Given the description of an element on the screen output the (x, y) to click on. 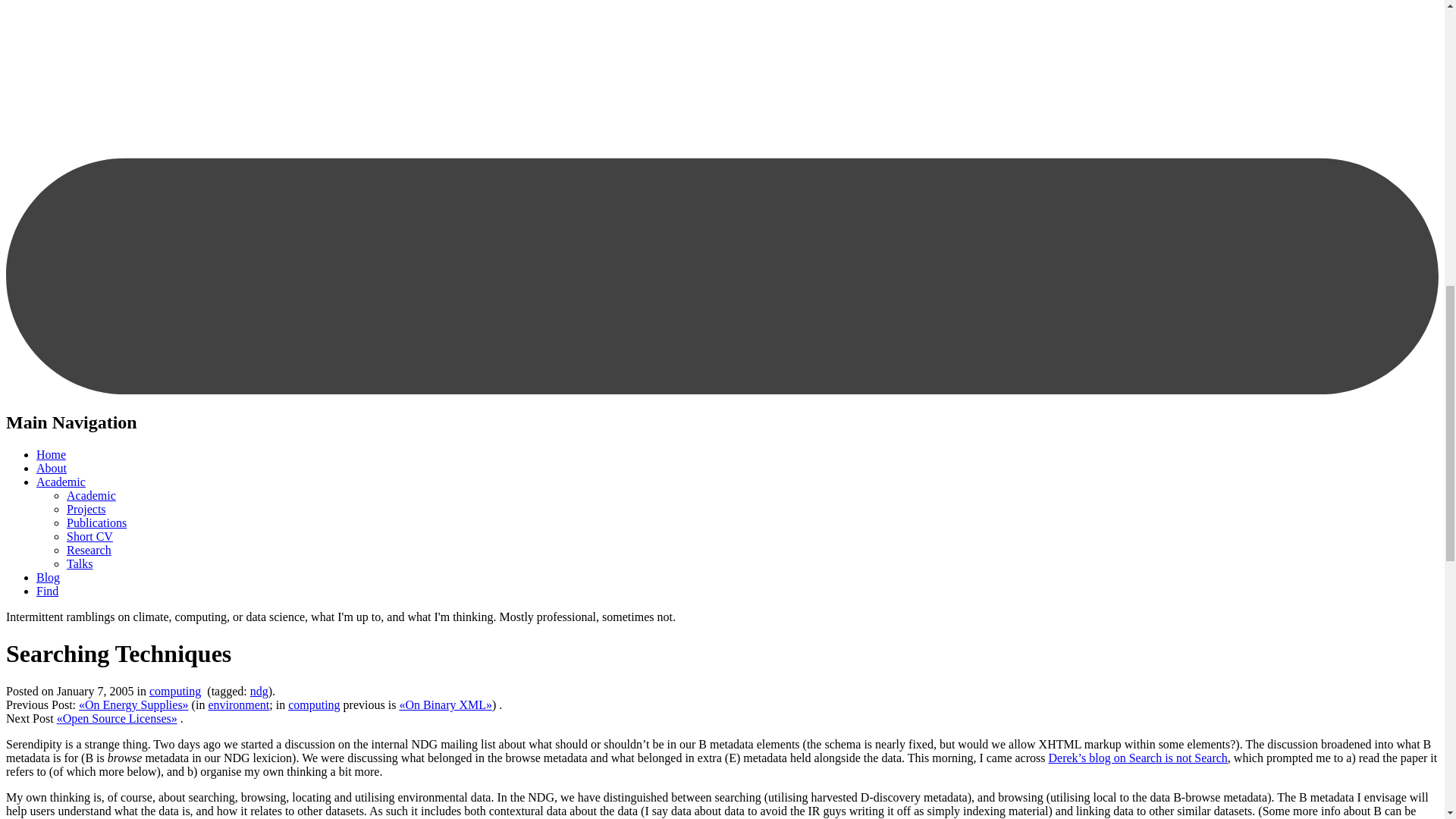
About (51, 468)
Home (50, 454)
computing (174, 690)
computing (313, 704)
Find (47, 590)
computing (174, 690)
Academic (91, 495)
ndg (258, 690)
Short CV (89, 535)
Projects (86, 508)
